Given the description of an element on the screen output the (x, y) to click on. 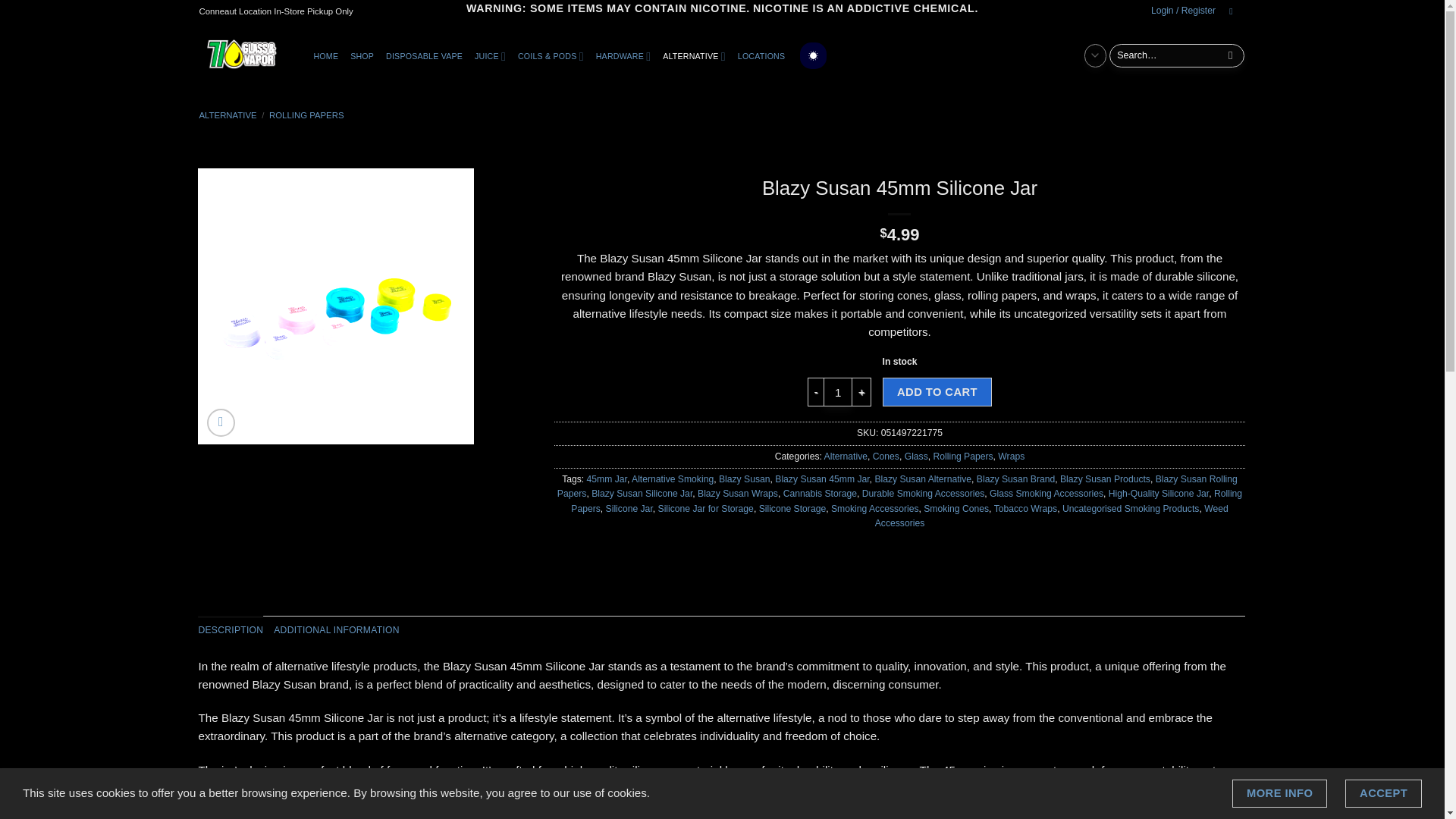
HOME (326, 56)
LOCATIONS (761, 56)
Cart (1233, 11)
JUICE (490, 56)
ALTERNATIVE (694, 56)
DISPOSABLE VAPE (424, 56)
HARDWARE (622, 56)
Zoom (220, 422)
Login (1183, 11)
SHOP (361, 56)
1 (837, 391)
Search (1229, 55)
